Given the description of an element on the screen output the (x, y) to click on. 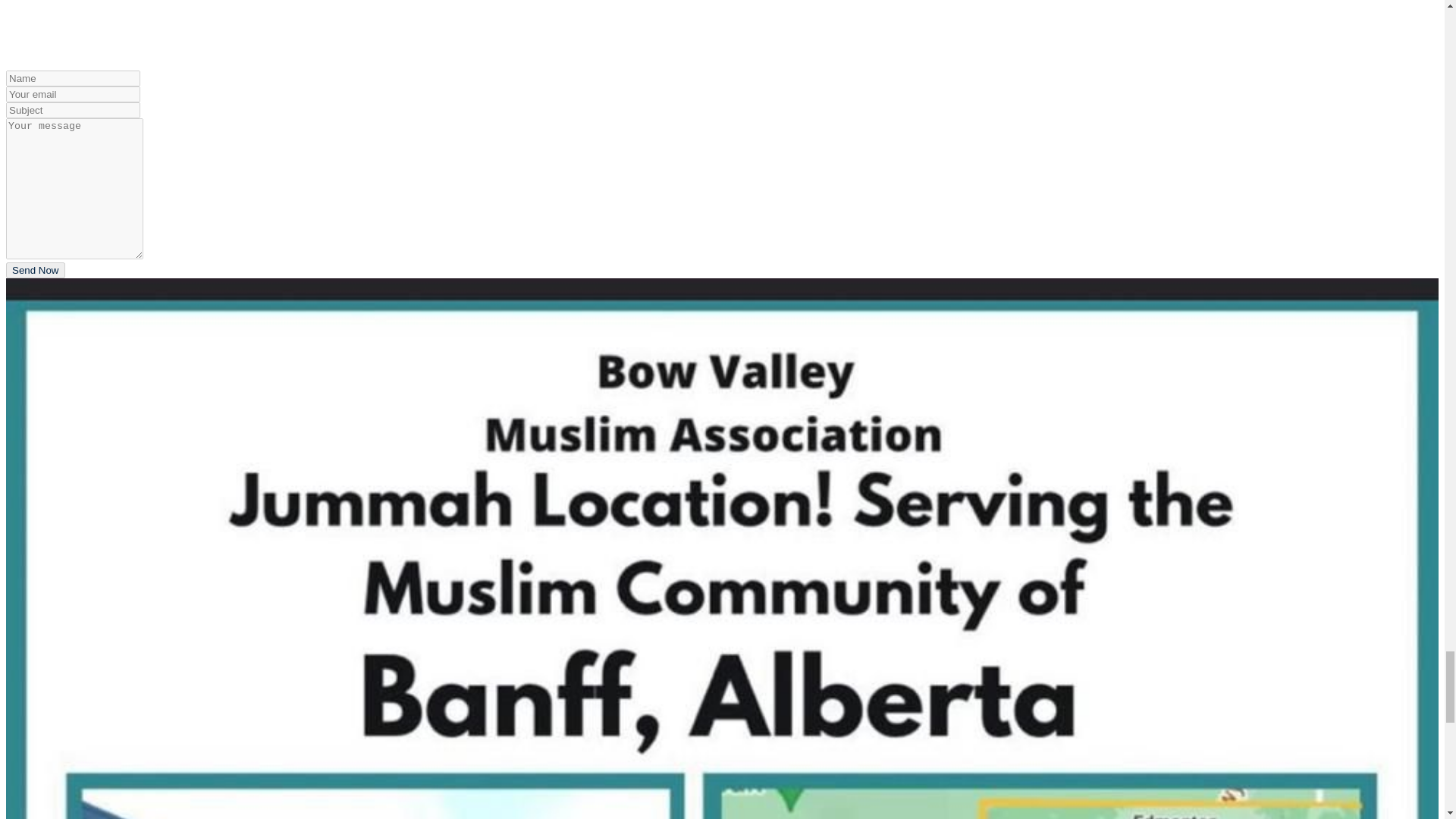
Send Now (35, 270)
